Given the description of an element on the screen output the (x, y) to click on. 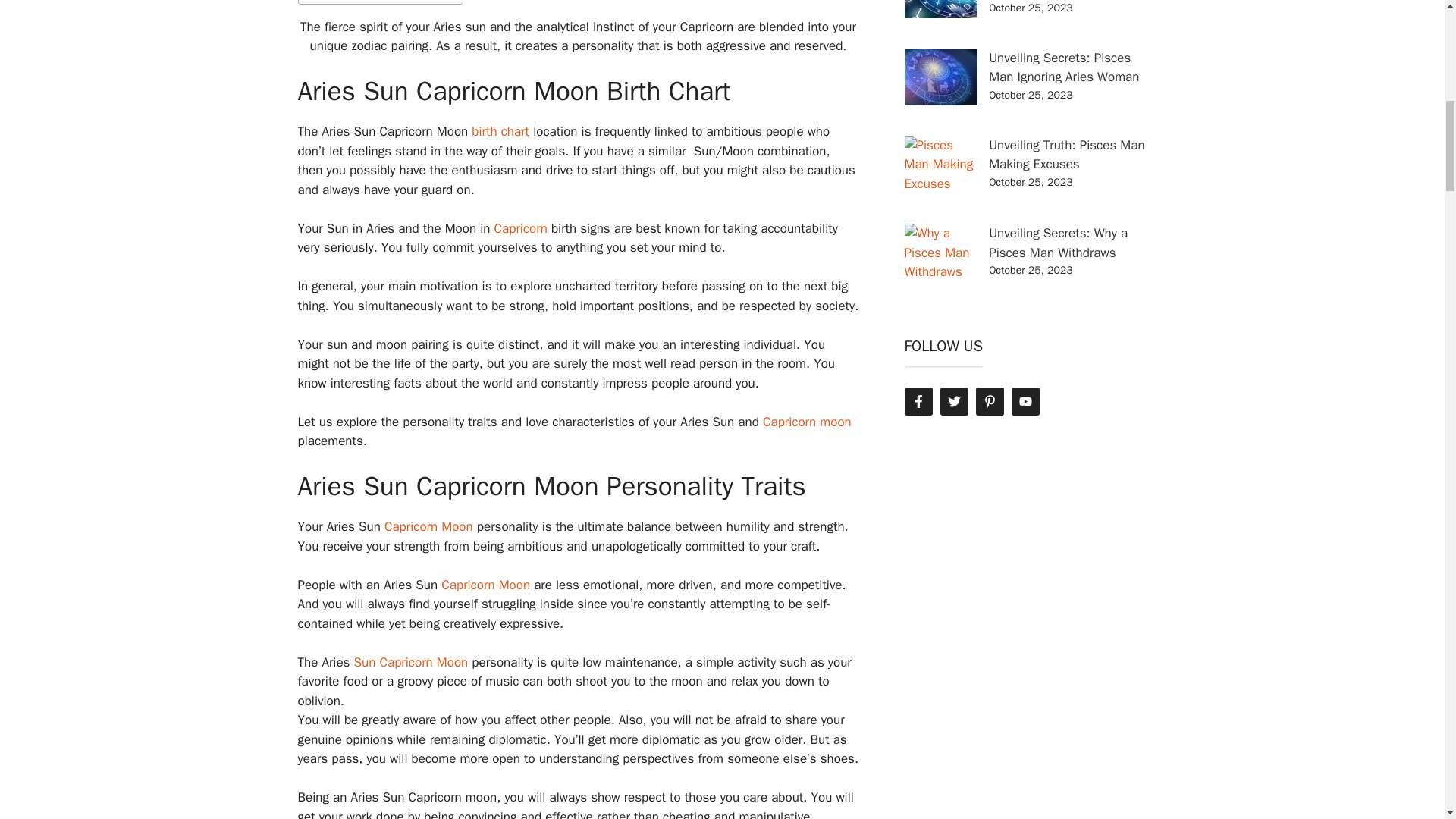
Capricorn Moon (428, 526)
Capricorn Moon (485, 584)
Capricorn moon (806, 421)
Sun Capricorn Moon (410, 662)
Capricorn (521, 228)
Capricorn Moon (428, 526)
Capricorn Moon (485, 584)
Capricorn moon (806, 421)
birth chart (500, 131)
